Given the description of an element on the screen output the (x, y) to click on. 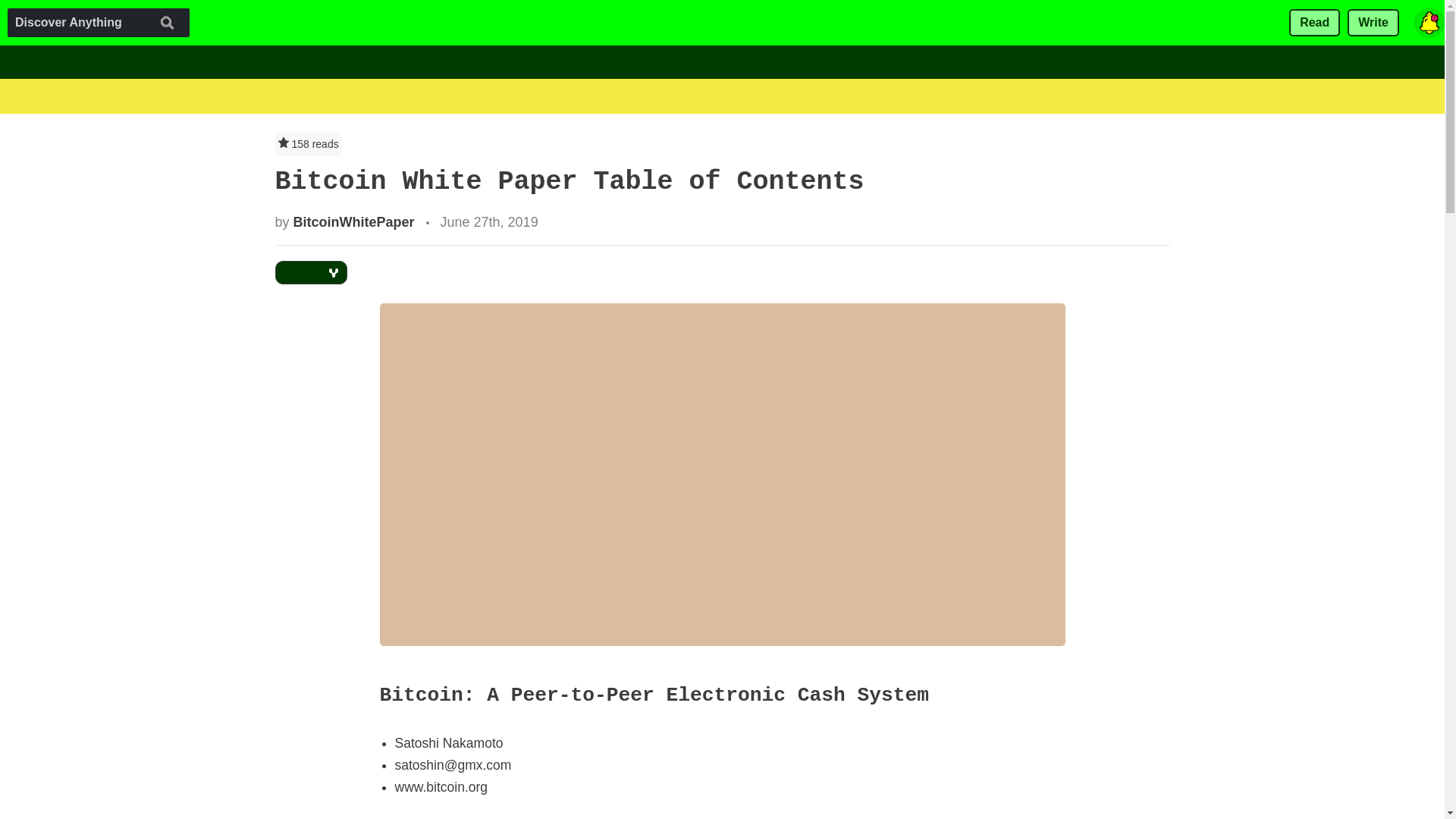
Read (1313, 22)
Abstract (426, 817)
Write (1373, 22)
BitcoinWhitePaper (354, 222)
